Given the description of an element on the screen output the (x, y) to click on. 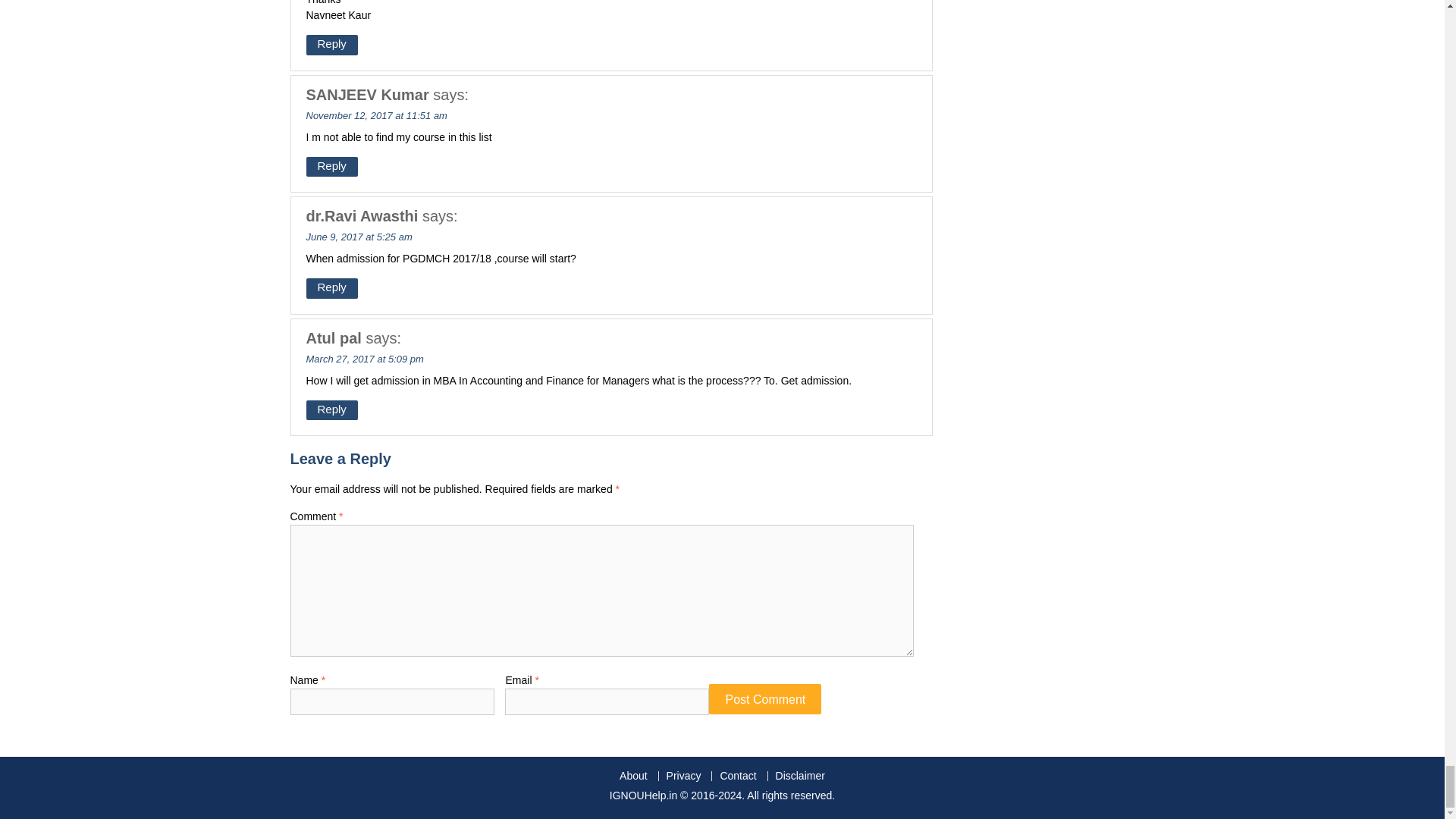
Post Comment (765, 698)
